Given the description of an element on the screen output the (x, y) to click on. 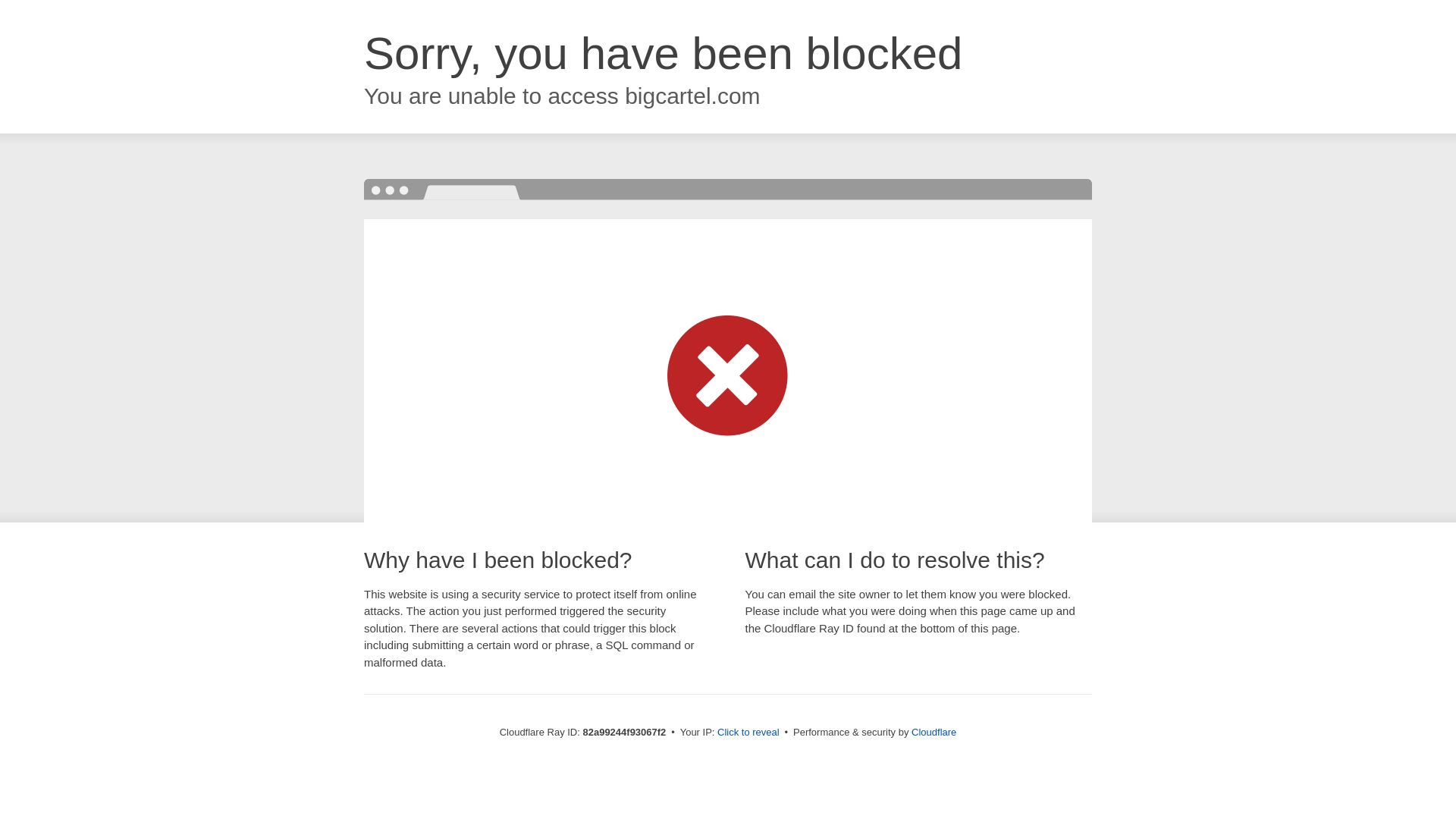
Click to reveal Element type: text (748, 732)
Cloudflare Element type: text (933, 731)
